Given the description of an element on the screen output the (x, y) to click on. 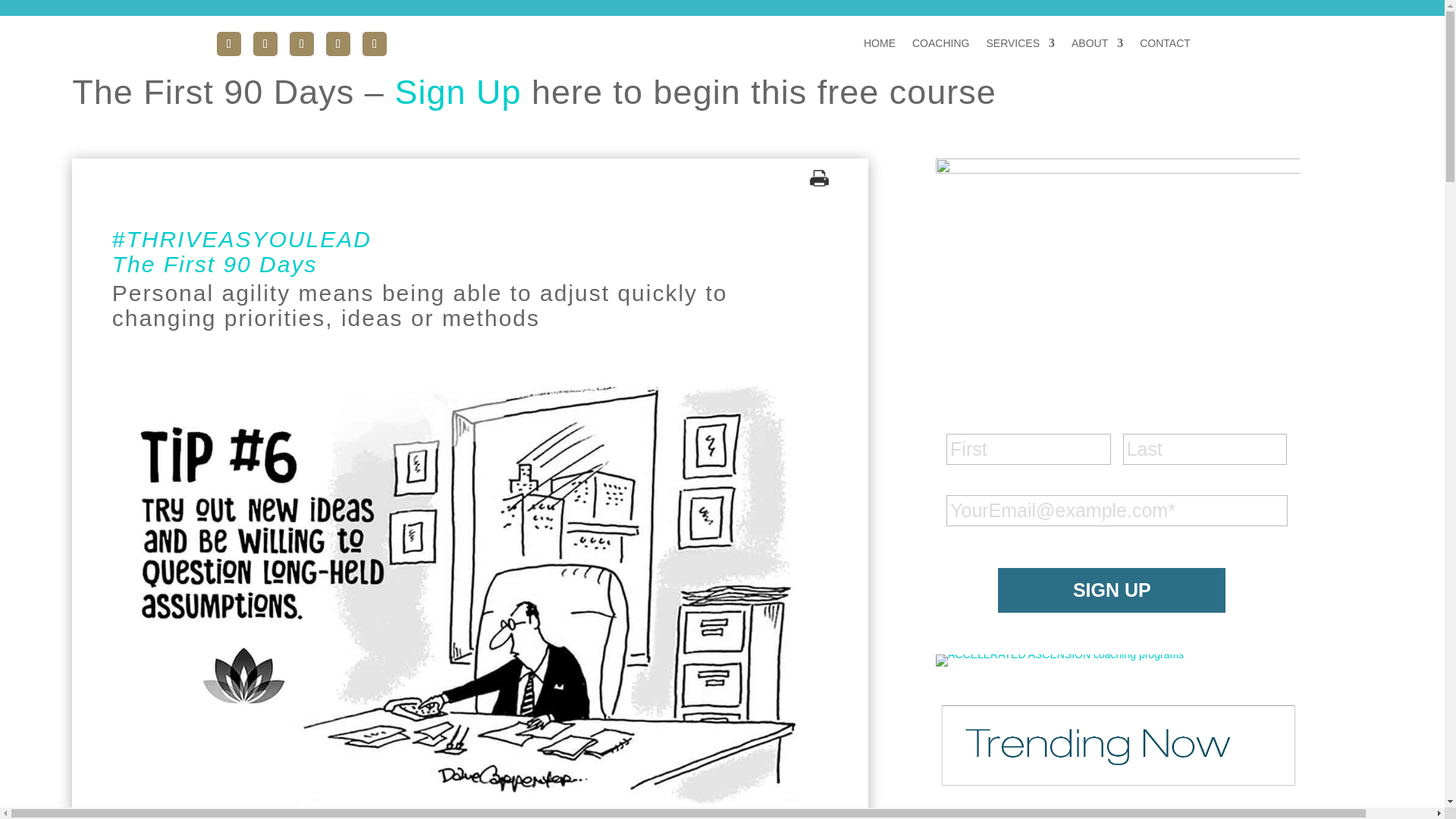
Sign Up (457, 91)
ABOUT (1096, 45)
SERVICES (1019, 45)
SIGN UP (1111, 590)
HOME (879, 45)
Follow on Instagram (228, 43)
COACHING (940, 45)
Follow on Twitter (301, 43)
Tools for Titans 2024img (1059, 660)
CONTACT (1165, 45)
